Given the description of an element on the screen output the (x, y) to click on. 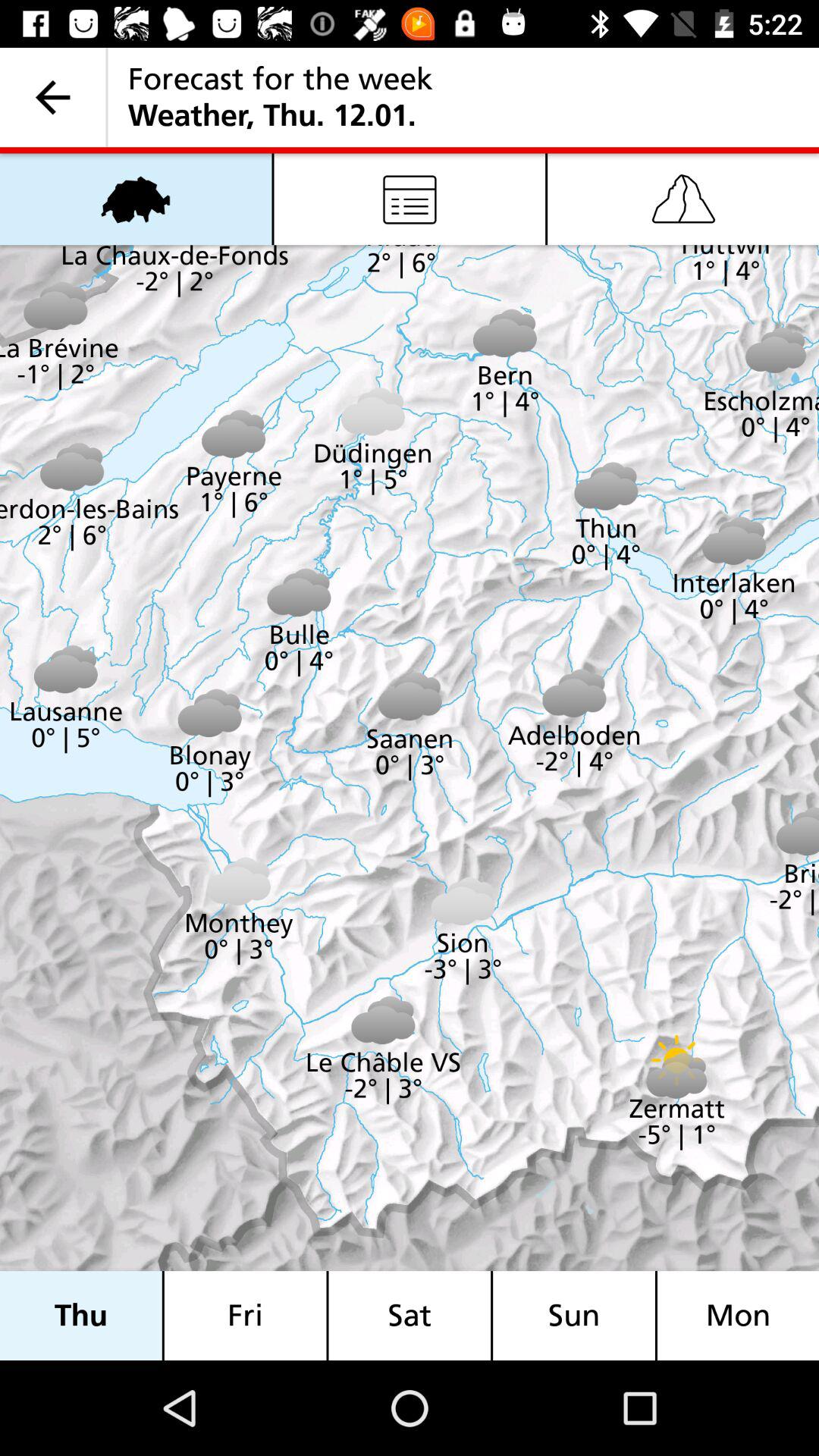
turn off fri icon (245, 1315)
